Given the description of an element on the screen output the (x, y) to click on. 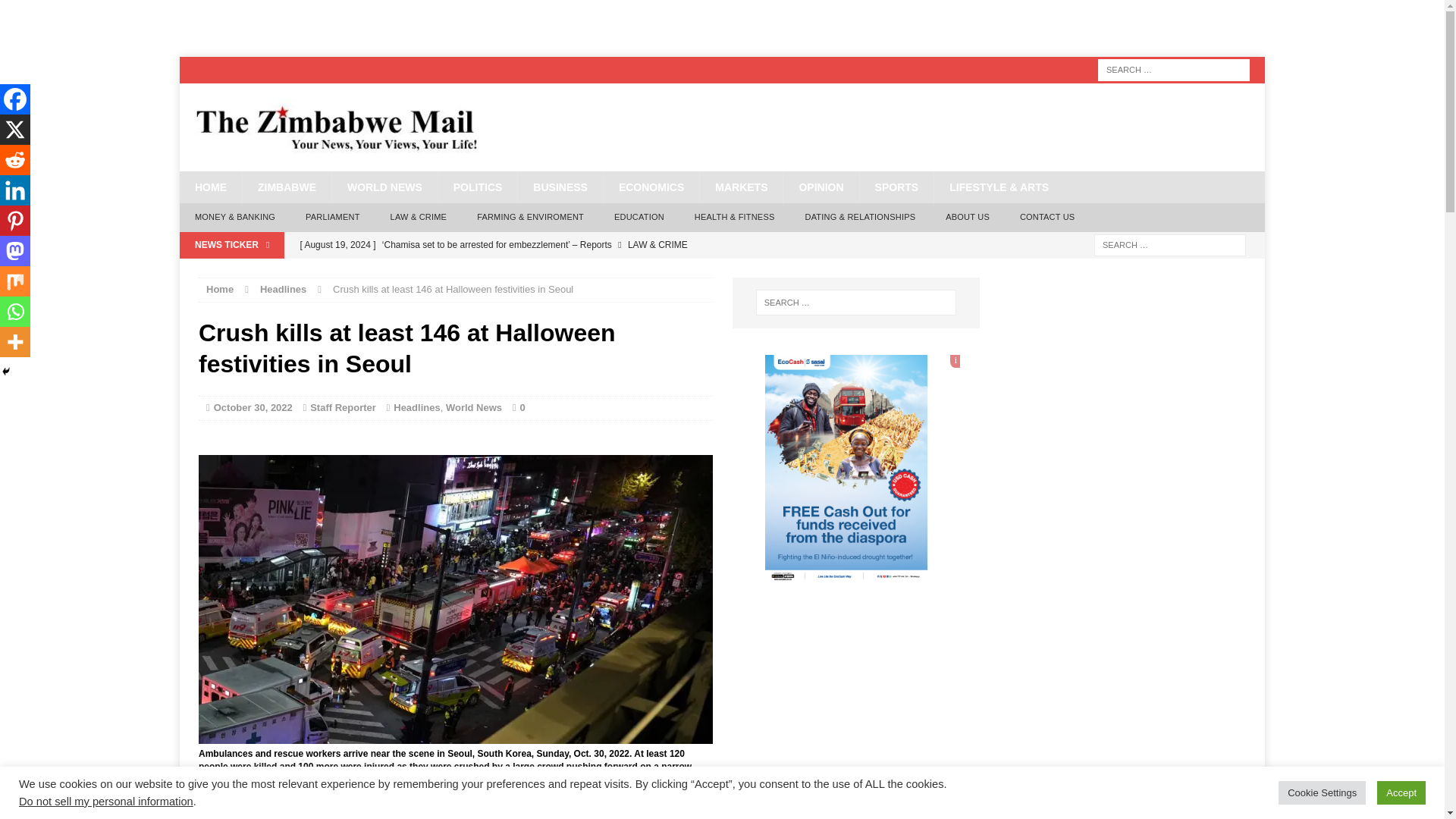
The Zimbabwe Mail (722, 127)
ZIMBABWE (286, 187)
ABOUT US (967, 217)
WORLD NEWS (384, 187)
CONTACT US (1047, 217)
BUSINESS (559, 187)
POLITICS (478, 187)
OPINION (821, 187)
HOME (210, 187)
